Given the description of an element on the screen output the (x, y) to click on. 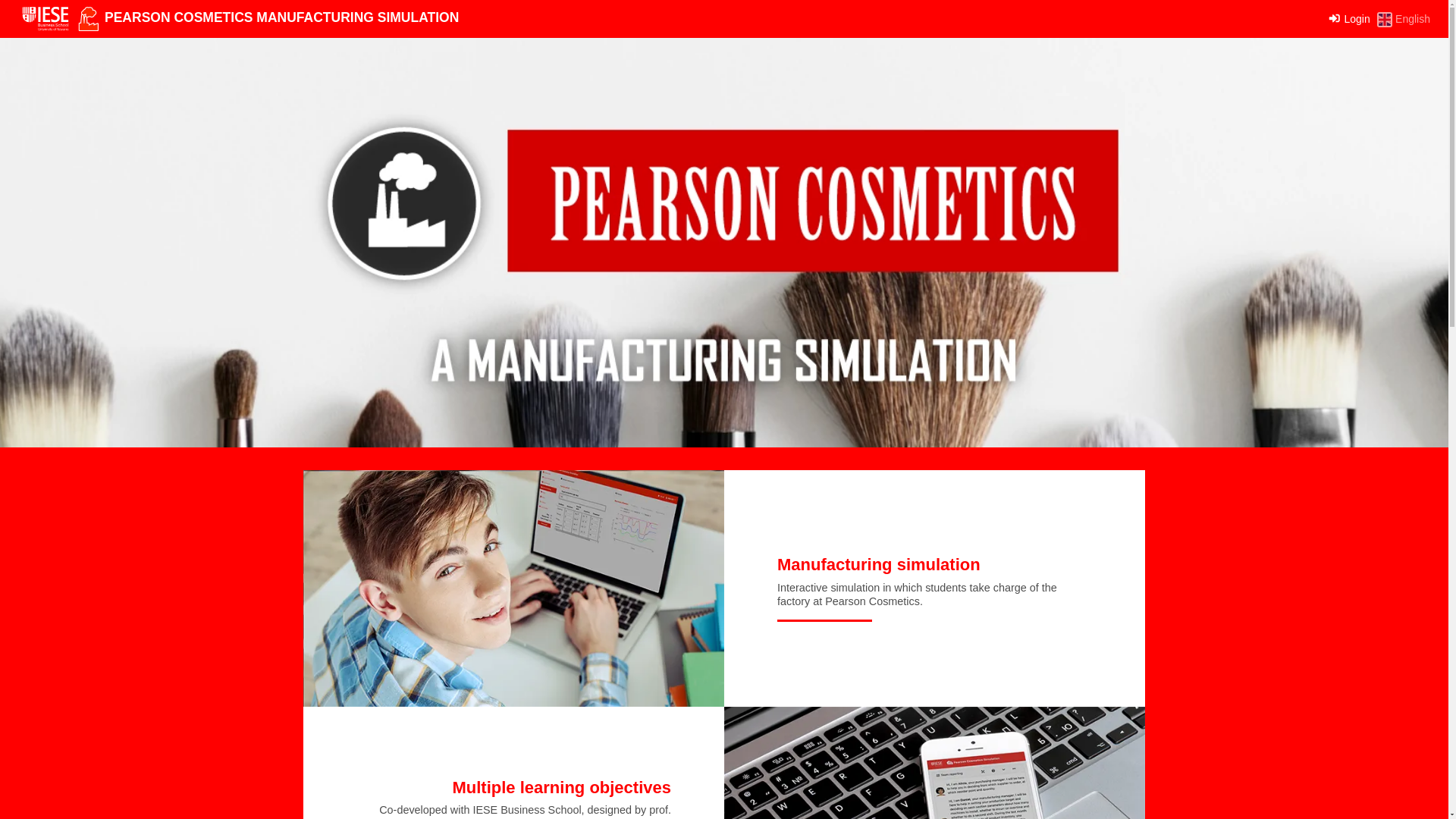
Login (1350, 18)
Pearson Cosmetics Manufacturing Simulation (88, 17)
English (1403, 19)
English (1403, 19)
Login (1350, 18)
